Given the description of an element on the screen output the (x, y) to click on. 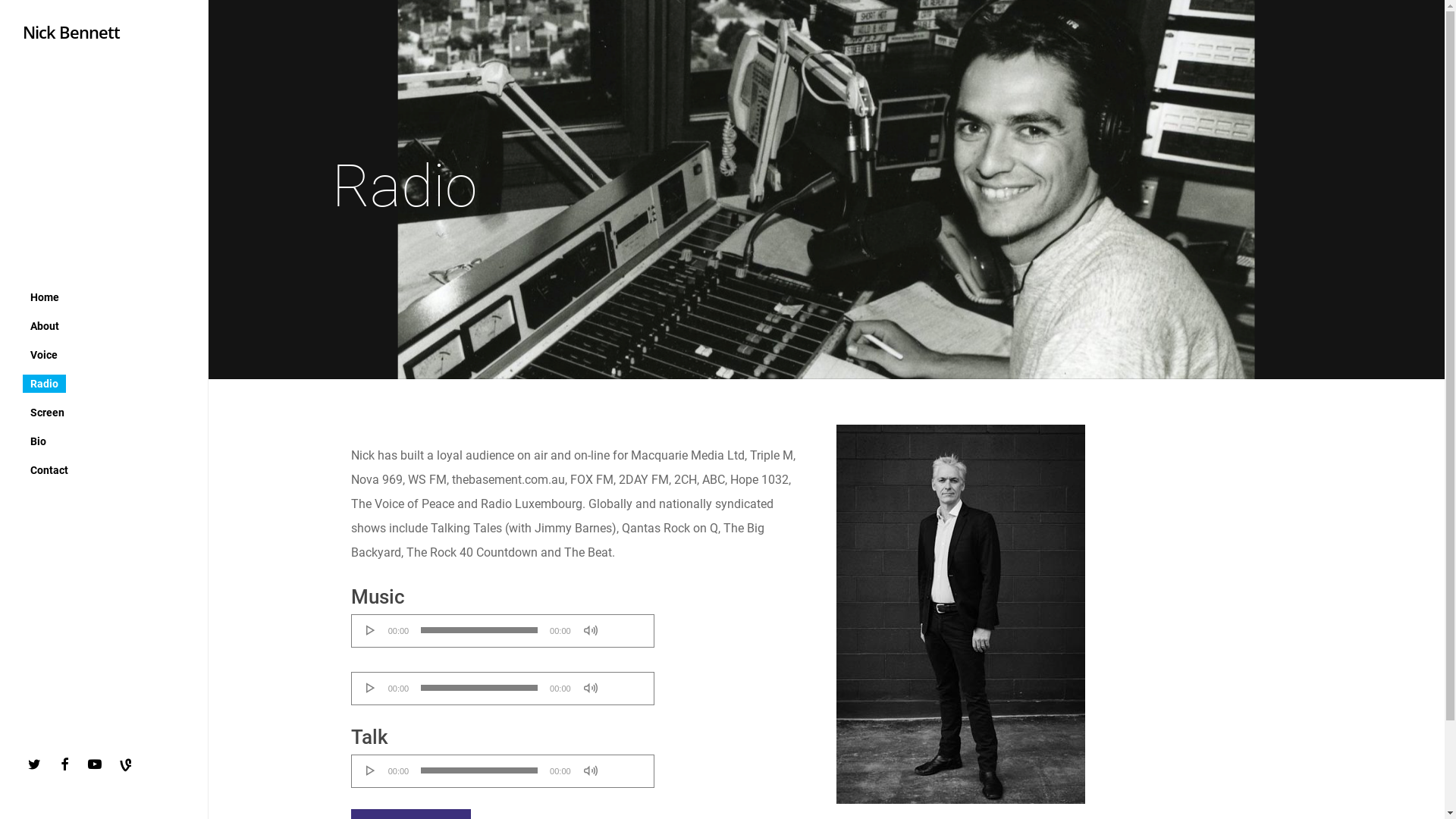
twitter Element type: text (37, 764)
Home Element type: text (44, 296)
Use Up/Down Arrow keys to increase or decrease volume. Element type: text (624, 624)
facebook Element type: text (68, 764)
Screen Element type: text (47, 411)
vine Element type: text (128, 766)
Mute Element type: hover (590, 629)
Mute Element type: hover (590, 687)
Mute Element type: hover (590, 770)
Play Element type: hover (370, 629)
youtube Element type: text (98, 764)
Use Up/Down Arrow keys to increase or decrease volume. Element type: text (624, 765)
Play Element type: hover (370, 770)
Voice Element type: text (43, 353)
About Element type: text (44, 324)
Play Element type: hover (370, 687)
Bio Element type: text (37, 440)
Use Up/Down Arrow keys to increase or decrease volume. Element type: text (624, 682)
Contact Element type: text (48, 469)
Nick Bennett Element type: text (70, 31)
Radio Element type: text (43, 382)
